Given the description of an element on the screen output the (x, y) to click on. 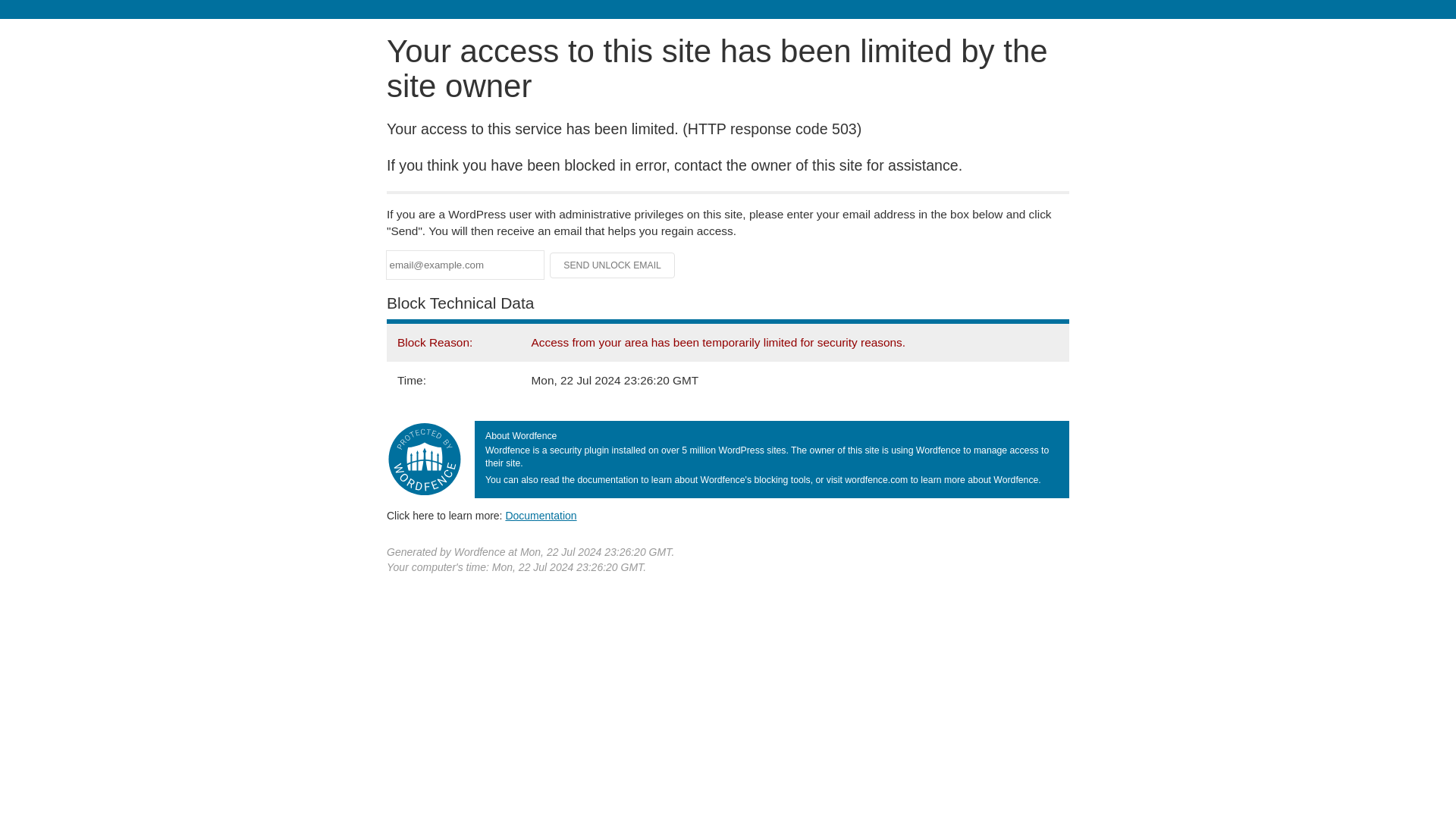
Documentation (540, 515)
Send Unlock Email (612, 265)
Send Unlock Email (612, 265)
